Given the description of an element on the screen output the (x, y) to click on. 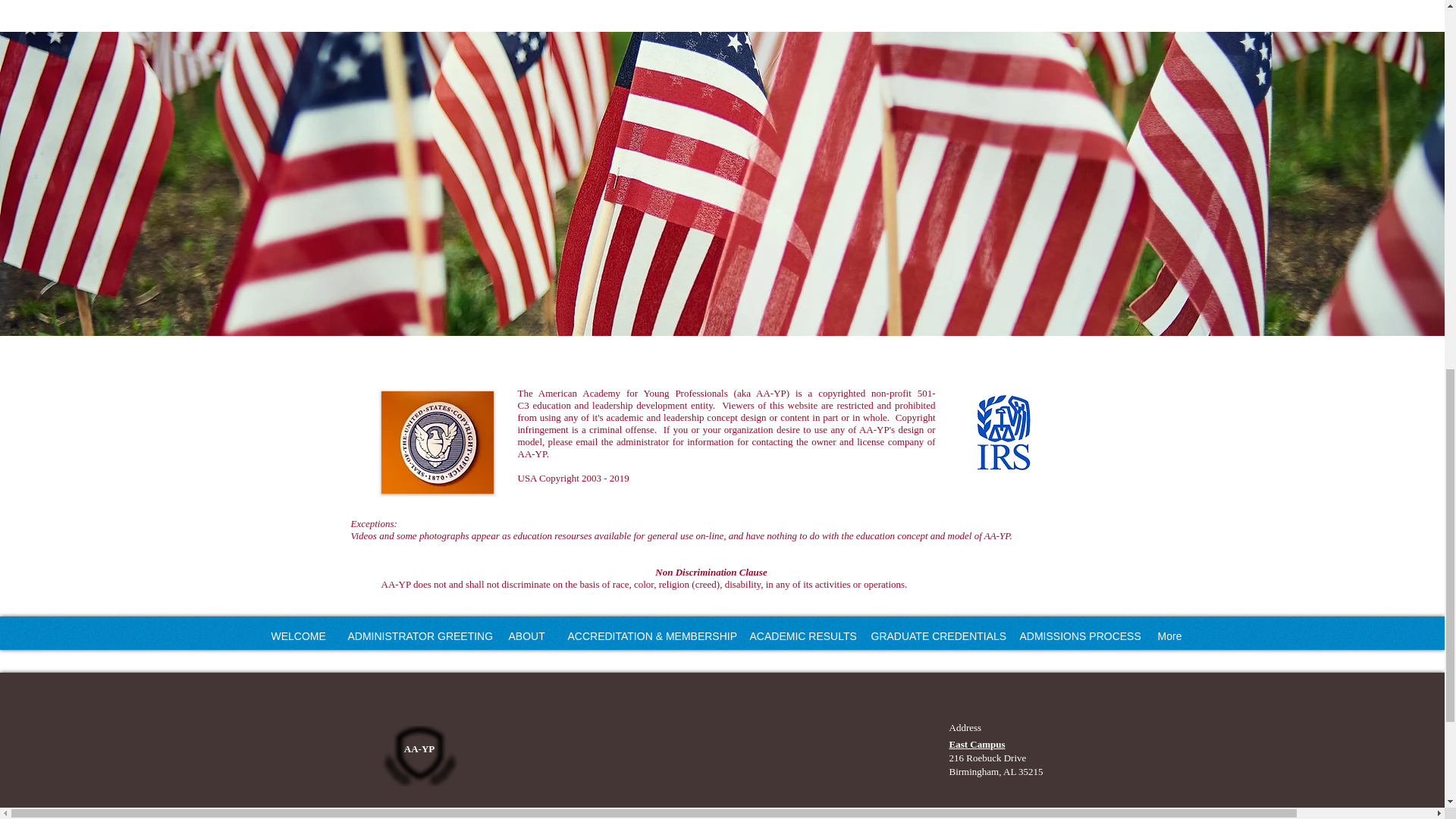
images.png (1001, 433)
ACADEMIC RESULTS (799, 635)
WELCOME (297, 635)
ABOUT (526, 635)
ADMINISTRATOR GREETING (416, 635)
ADMISSIONS PROCESS (1076, 635)
GRADUATE CREDENTIALS (934, 635)
